Given the description of an element on the screen output the (x, y) to click on. 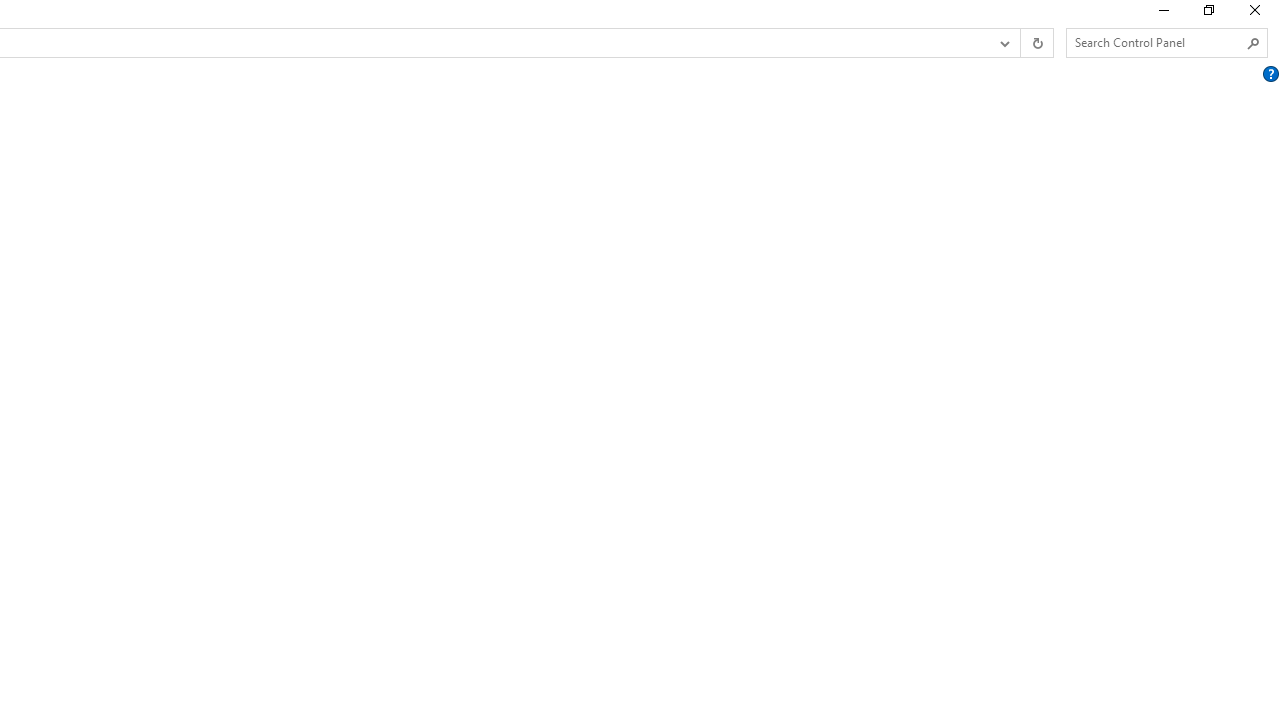
Search Box (1156, 42)
Restore (1208, 14)
Search (1253, 43)
Minimize (1162, 14)
Address band toolbar (1019, 43)
Previous Locations (1003, 43)
Refresh "Security and Maintenance" (F5) (1036, 43)
